Given the description of an element on the screen output the (x, y) to click on. 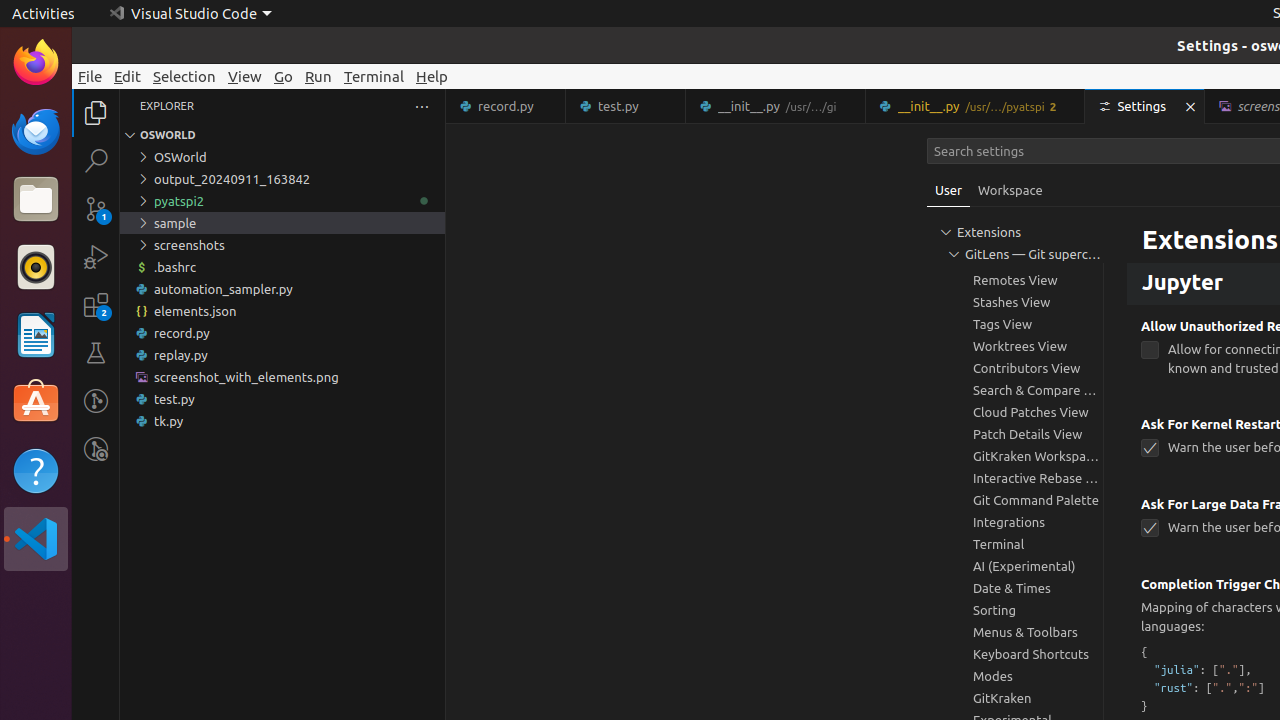
Selection Element type: push-button (184, 76)
tk.py Element type: tree-item (282, 421)
elements.json Element type: tree-item (282, 311)
Source Control (Ctrl+Shift+G G) - 1 pending changes Source Control (Ctrl+Shift+G G) - 1 pending changes Element type: page-tab (96, 208)
